Given the description of an element on the screen output the (x, y) to click on. 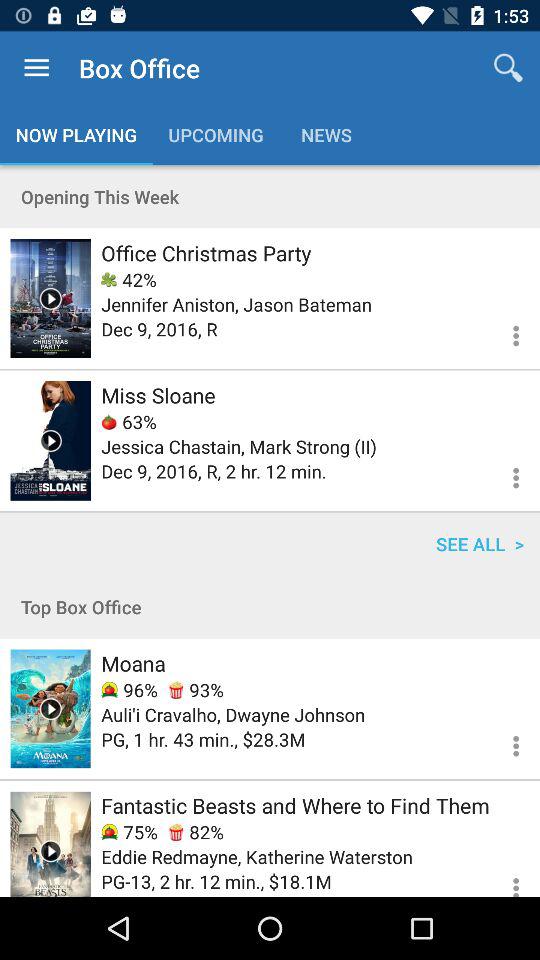
choose item below office christmas party item (128, 279)
